Given the description of an element on the screen output the (x, y) to click on. 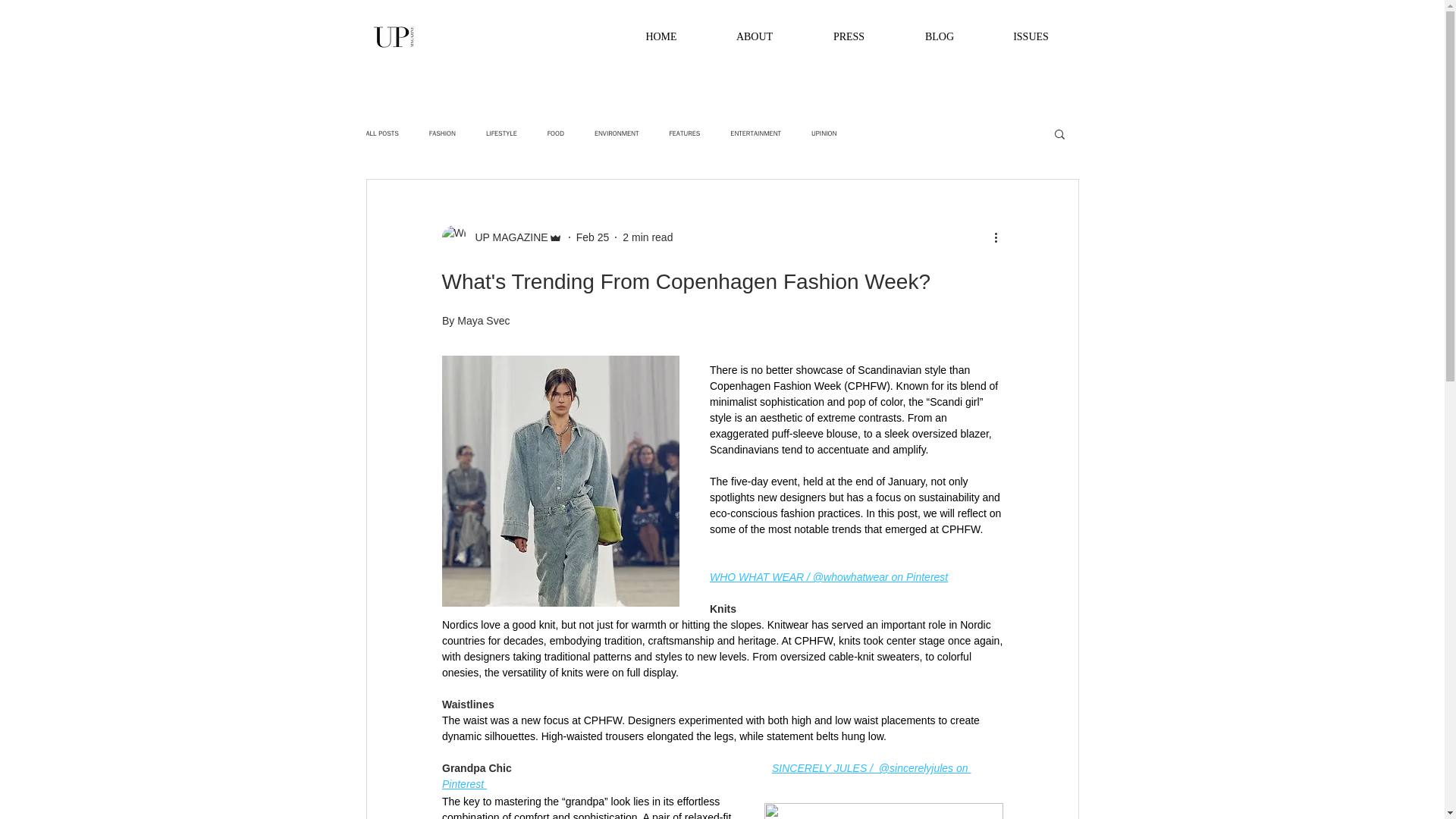
FASHION (442, 133)
UP MAGAZINE (506, 236)
PRESS (848, 37)
ENTERTAINMENT (755, 133)
HOME (660, 37)
Feb 25 (593, 236)
FEATURES (684, 133)
ALL POSTS (381, 133)
UPINION (822, 133)
ABOUT (754, 37)
LIFESTYLE (501, 133)
UP MAGAZINE (501, 237)
ENVIRONMENT (616, 133)
FOOD (555, 133)
BLOG (939, 37)
